Given the description of an element on the screen output the (x, y) to click on. 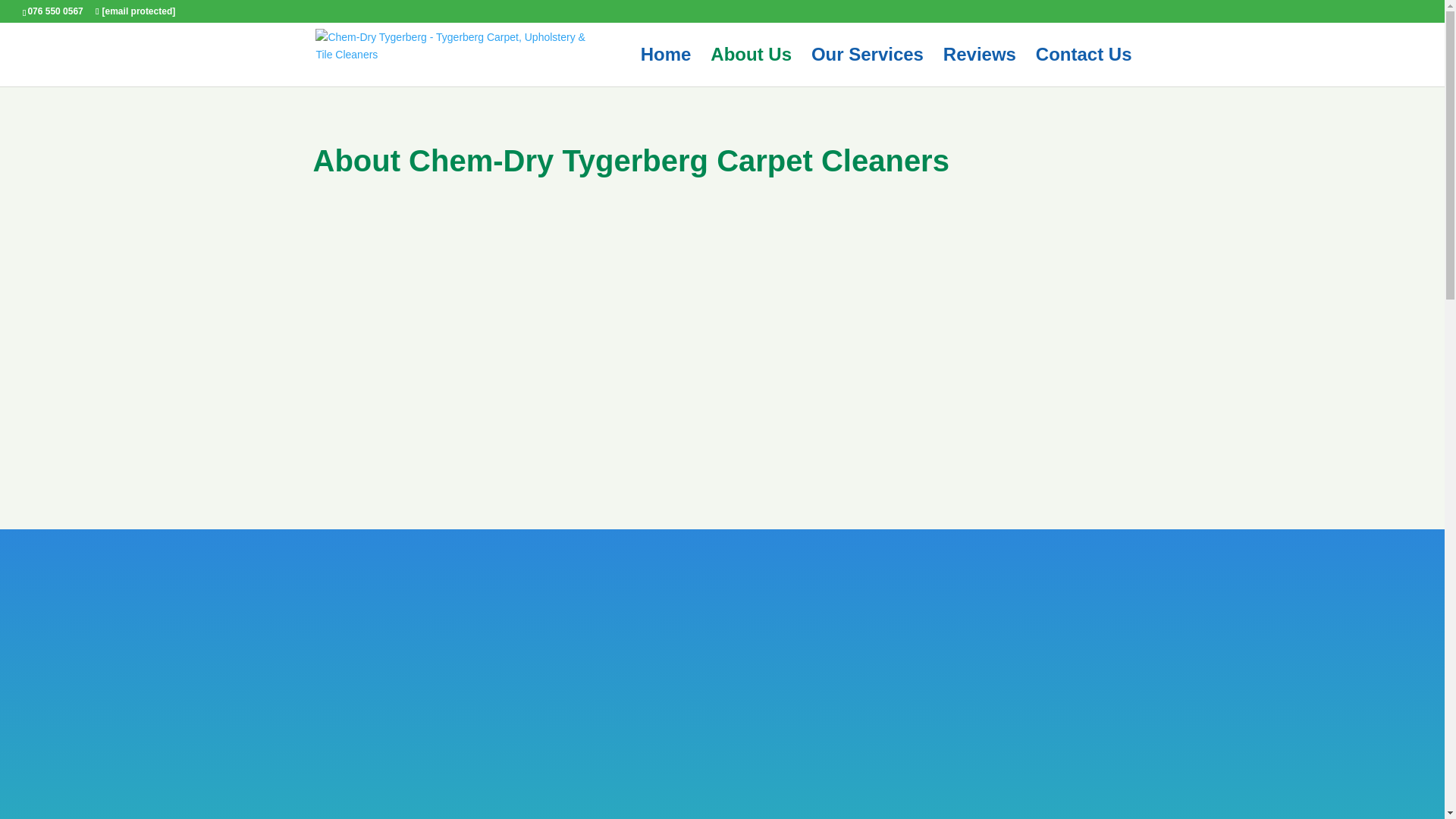
About Us (751, 67)
Contact Us (1083, 67)
Home (665, 67)
Our Services (866, 67)
Reviews (979, 67)
